Given the description of an element on the screen output the (x, y) to click on. 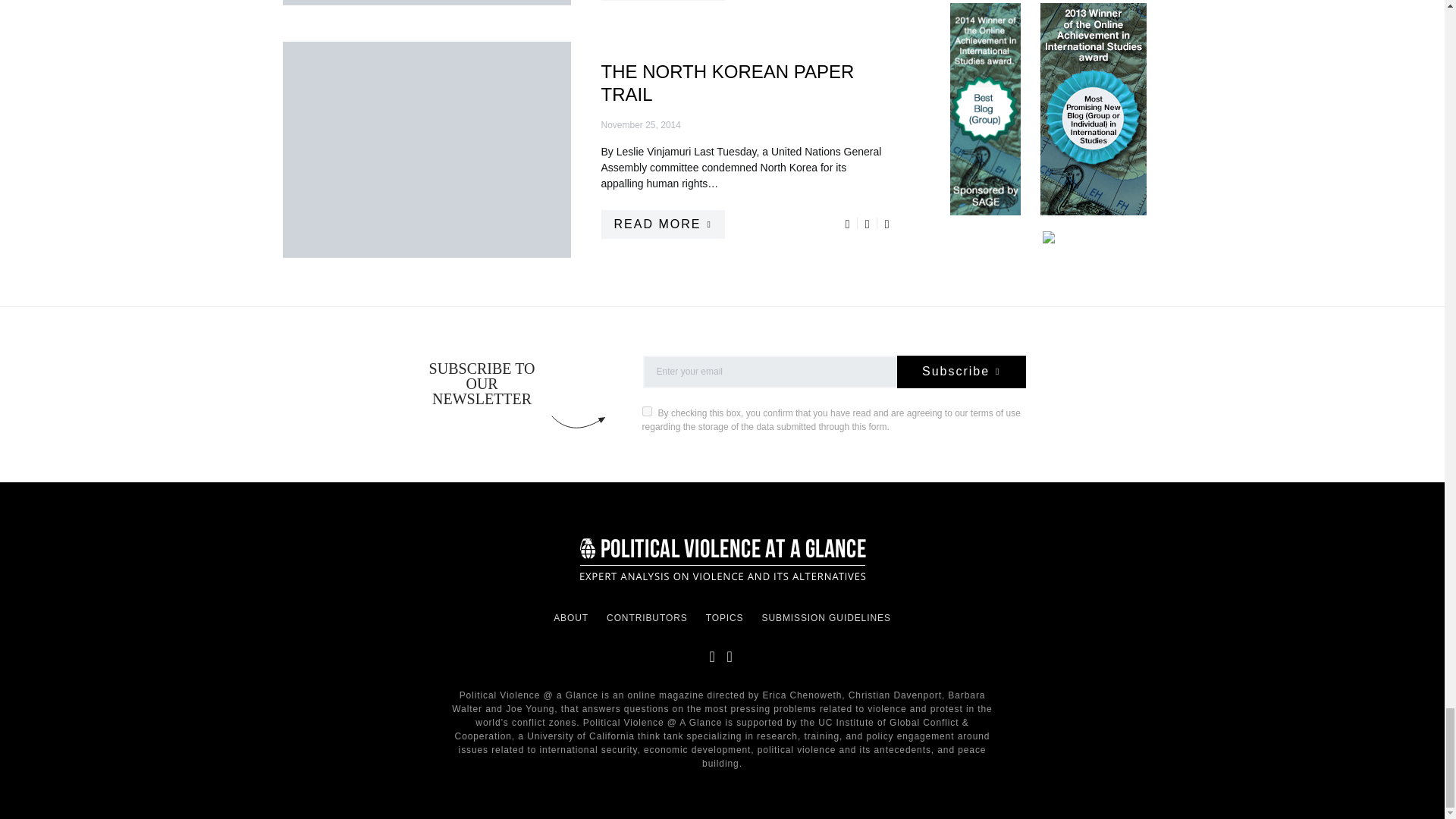
on (647, 411)
